Given the description of an element on the screen output the (x, y) to click on. 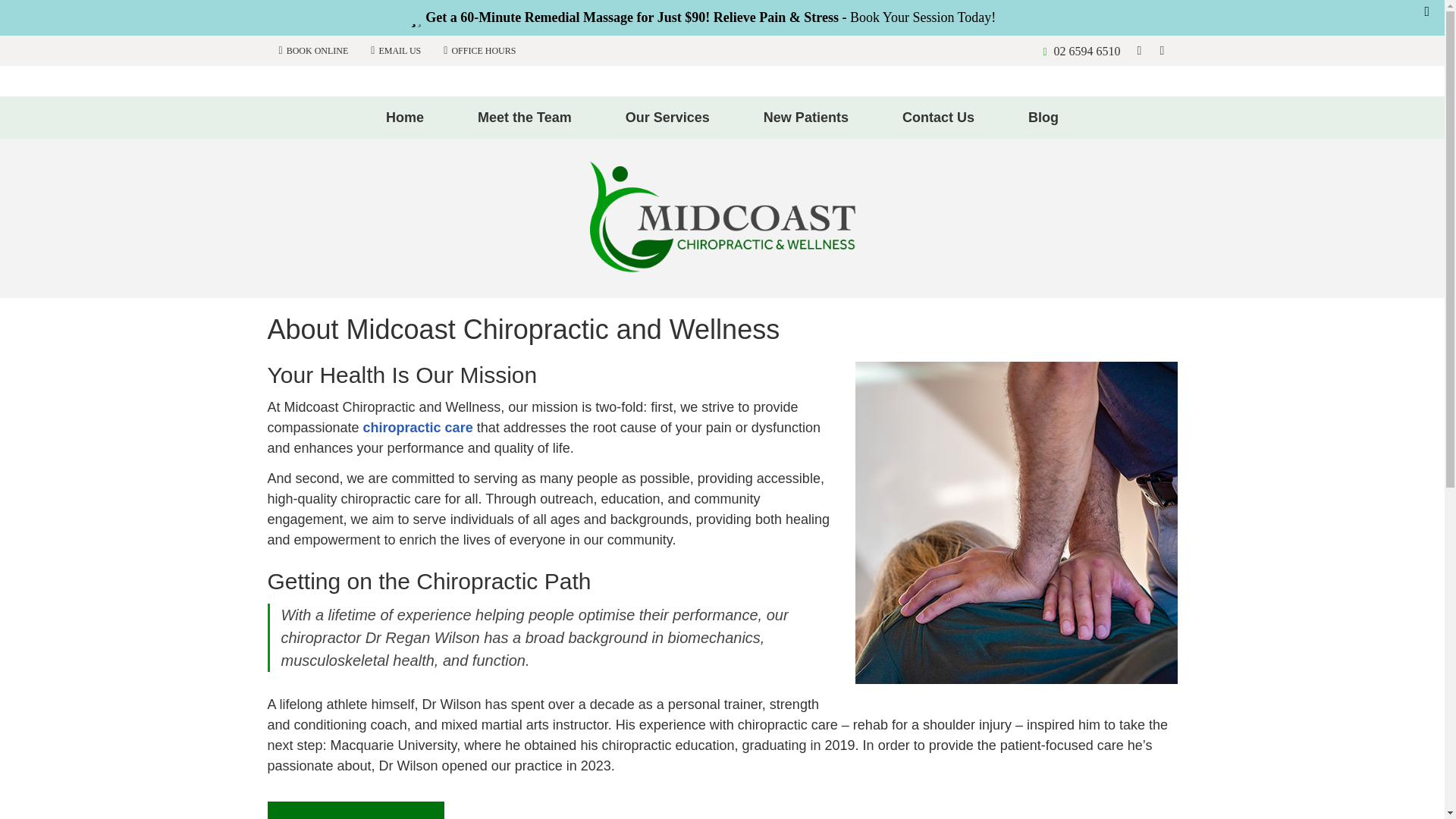
Midcoast Chiropractic and Wellness (722, 267)
Welcome to Midcoast Chiropractic and Wellness (722, 267)
Contact (395, 49)
New Patients (806, 117)
Contact Us (938, 117)
Blog (1042, 117)
Facebook Social Button (1161, 50)
Meet the Team (524, 117)
chiropractic care (417, 427)
MEET DR WILSON (355, 810)
